Given the description of an element on the screen output the (x, y) to click on. 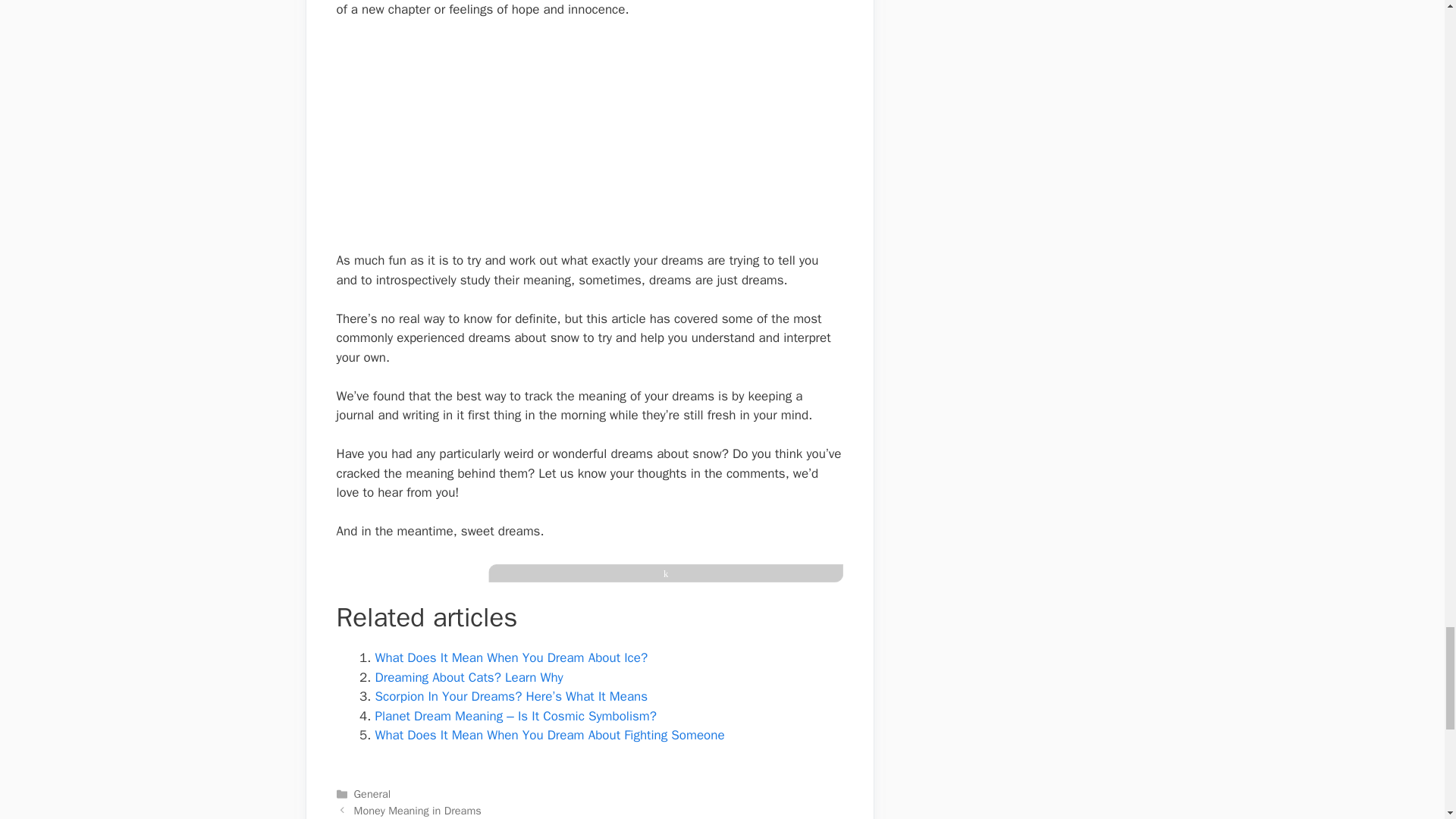
Money Meaning in Dreams (417, 810)
What Does It Mean When You Dream About Fighting Someone (548, 734)
What Does It Mean When You Dream About Ice? (510, 657)
General (372, 793)
Dreaming About Cats? Learn Why (468, 677)
